Given the description of an element on the screen output the (x, y) to click on. 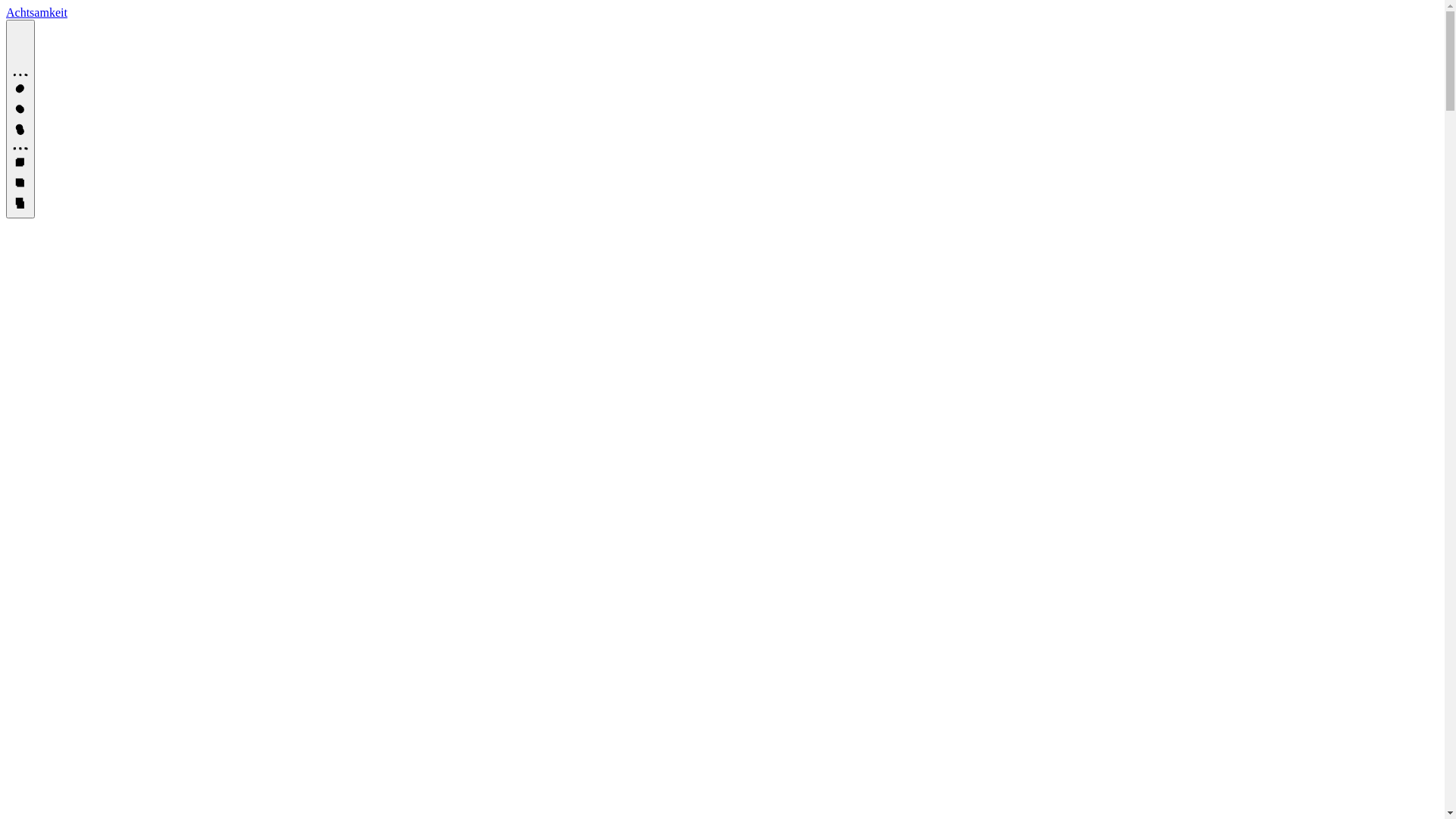
Achtsamkeit Element type: text (36, 12)
